Given the description of an element on the screen output the (x, y) to click on. 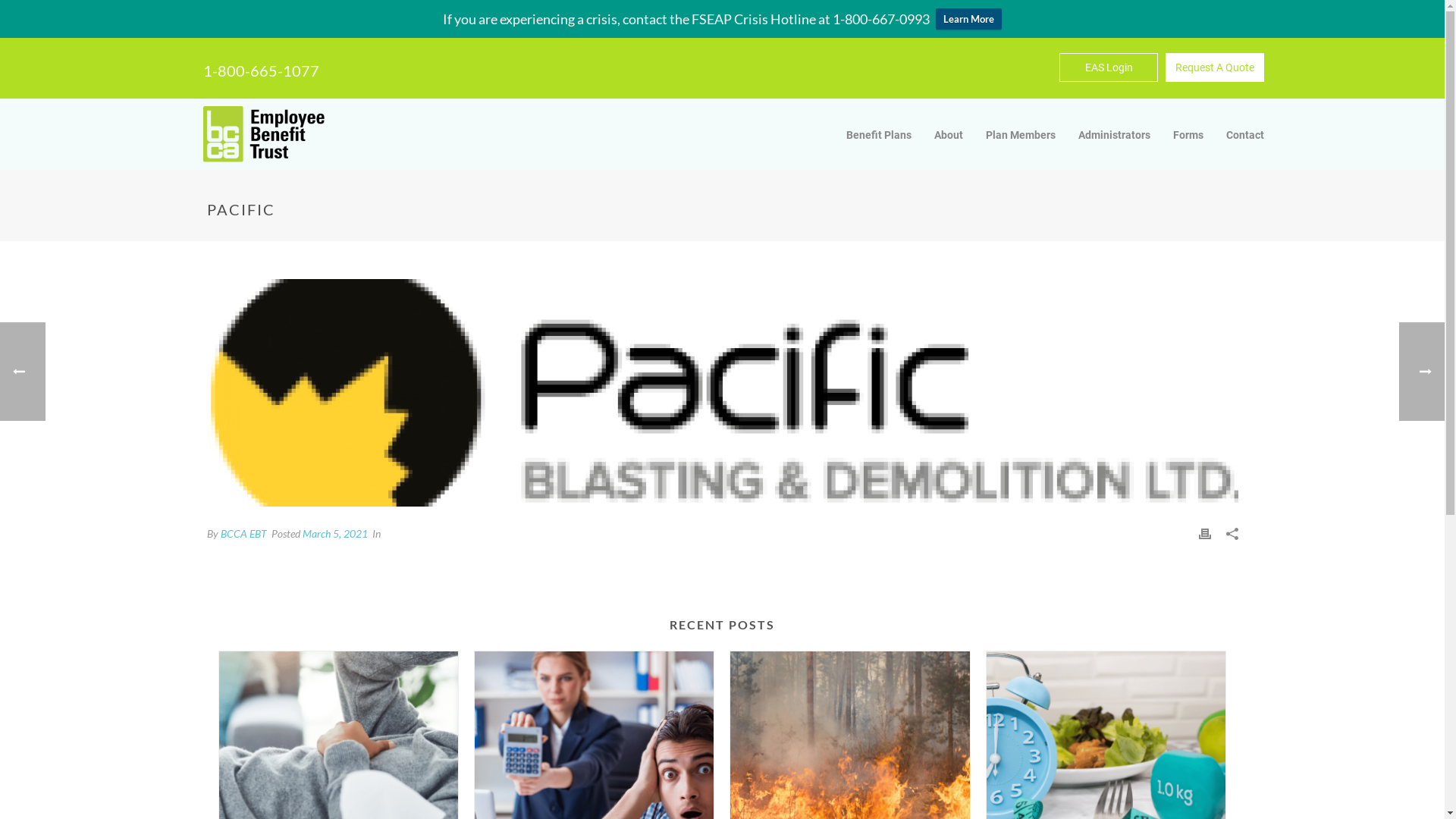
EAS Login Element type: text (1108, 67)
Contact Element type: text (1244, 134)
Print Element type: hover (1204, 532)
  Element type: text (721, 392)
Pacific Element type: hover (721, 392)
About Element type: text (948, 134)
Administrators Element type: text (1113, 134)
BC Construction Association : BCCA Element type: hover (263, 134)
Plan Members Element type: text (1020, 134)
BCCA EBT Element type: text (242, 533)
Benefit Plans Element type: text (878, 134)
Request A Quote Element type: text (1214, 67)
Learn More Element type: text (968, 18)
1-800-665-1077 Element type: text (261, 70)
Forms Element type: text (1187, 134)
March 5, 2021 Element type: text (334, 533)
